Given the description of an element on the screen output the (x, y) to click on. 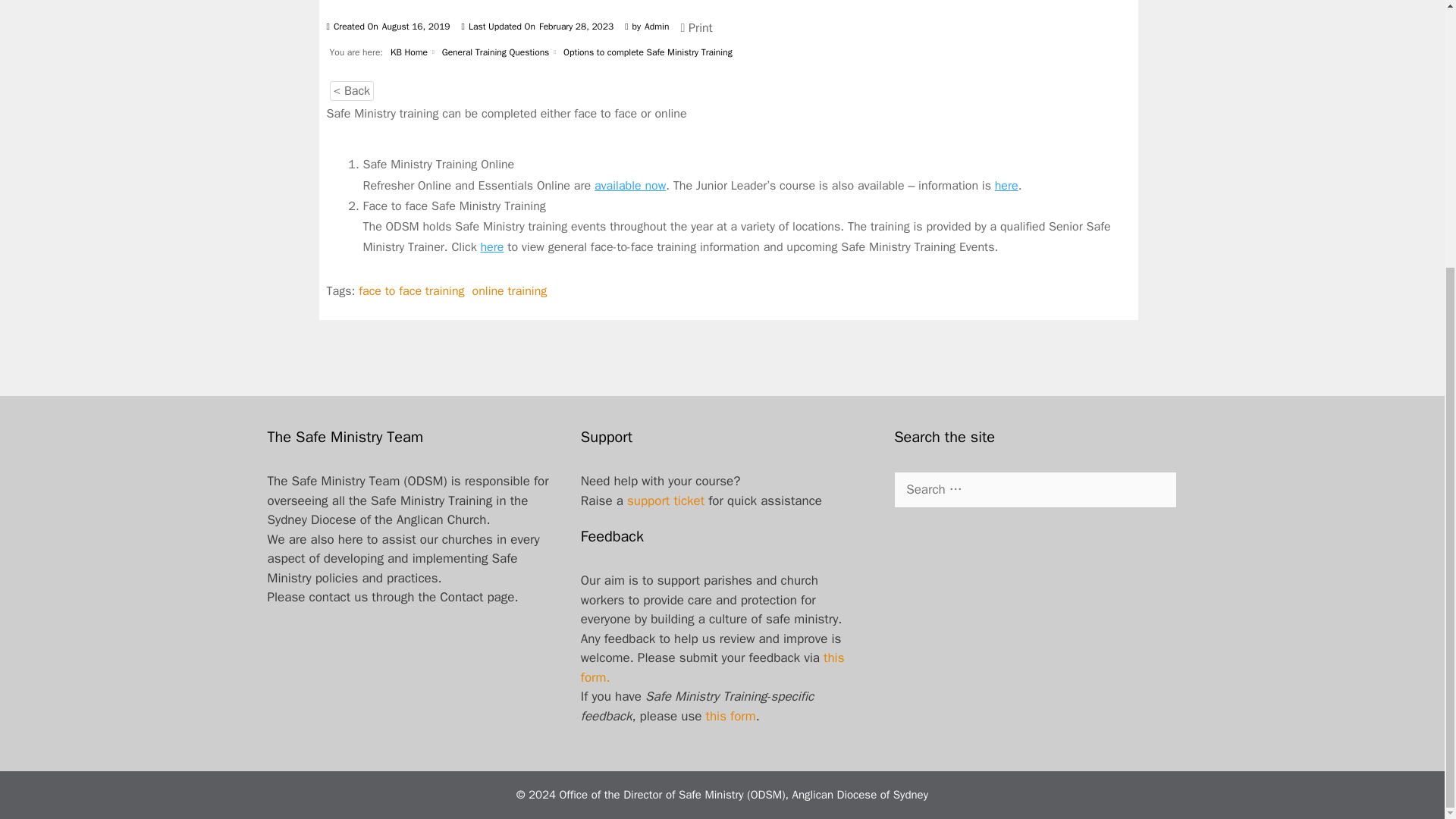
Search for: (1034, 489)
